Given the description of an element on the screen output the (x, y) to click on. 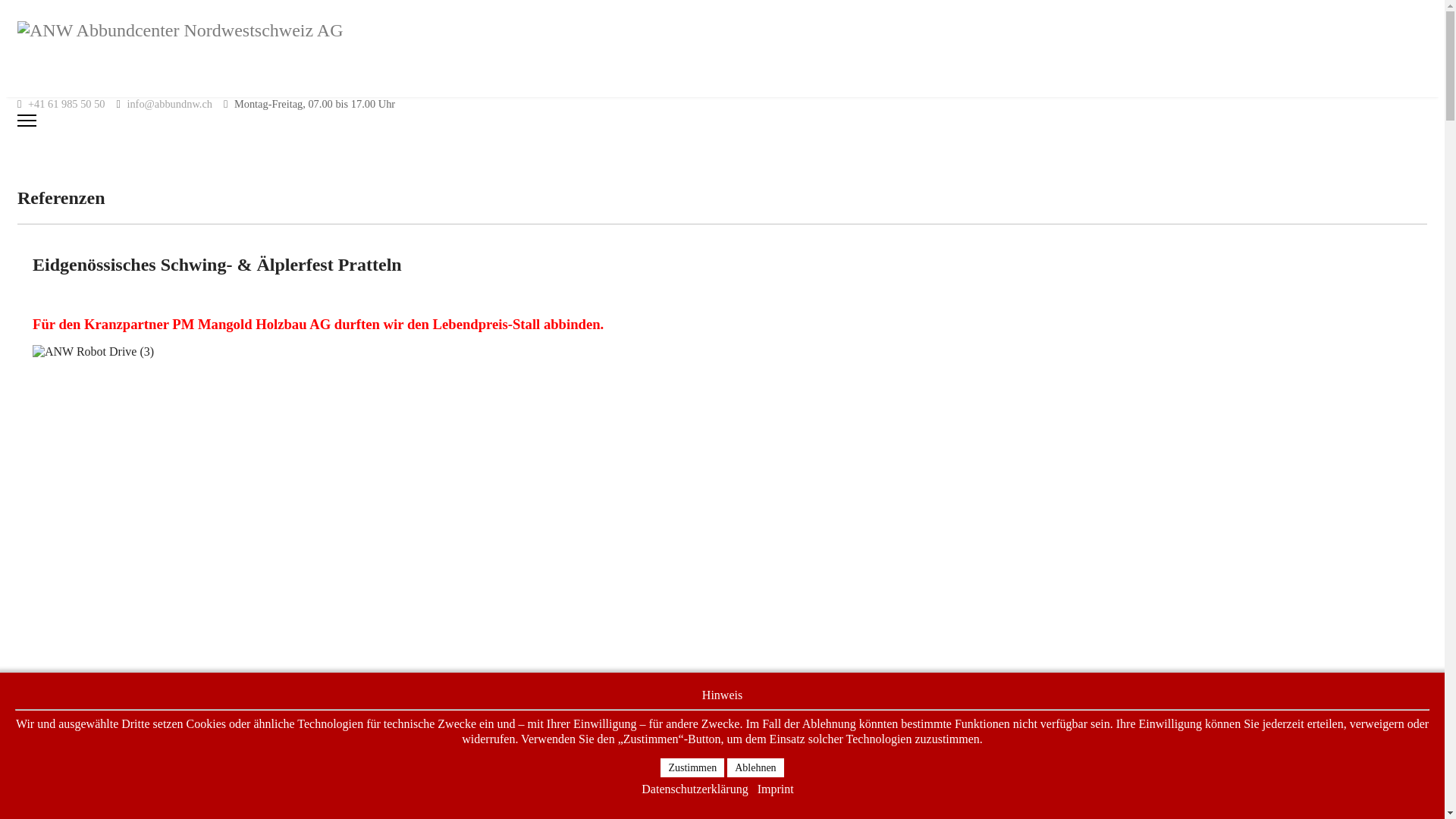
Menu Element type: hover (722, 120)
info@abbundnw.ch Element type: text (169, 103)
Imprint Element type: text (775, 789)
Zustimmen Element type: text (692, 767)
Ablehnen Element type: text (755, 767)
+41 61 985 50 50 Element type: text (66, 103)
